Given the description of an element on the screen output the (x, y) to click on. 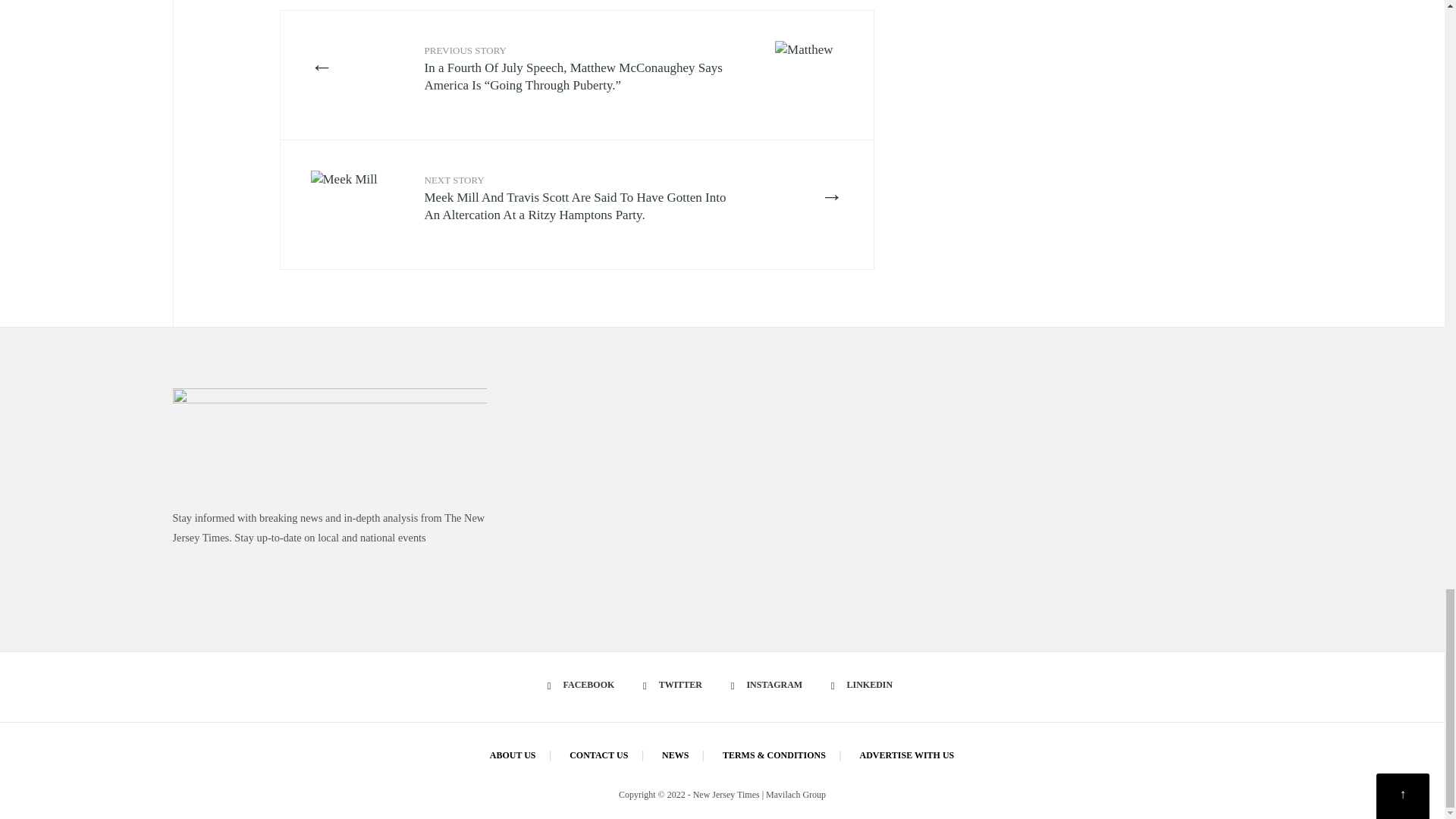
Twitter (674, 685)
LinkedIn (864, 685)
Instagram (769, 685)
Facebook (583, 685)
